Given the description of an element on the screen output the (x, y) to click on. 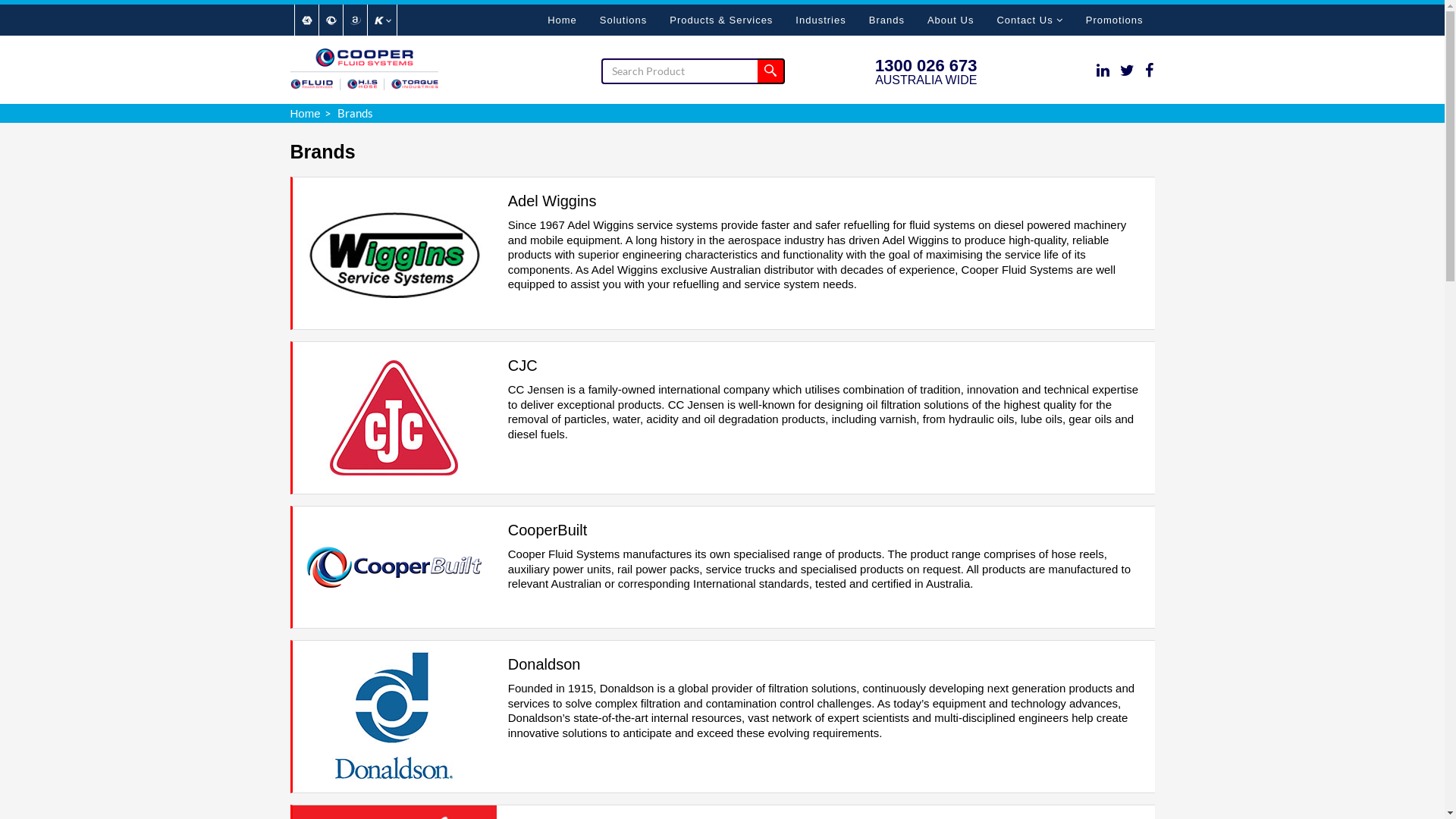
Home Element type: text (562, 20)
Industries Element type: text (820, 20)
Solutions Element type: text (623, 20)
Products & Services Element type: text (721, 20)
Contact Us Element type: text (1029, 20)
Home Element type: text (304, 112)
Brands Element type: text (886, 20)
About Us Element type: text (950, 20)
Promotions Element type: text (1114, 20)
